Given the description of an element on the screen output the (x, y) to click on. 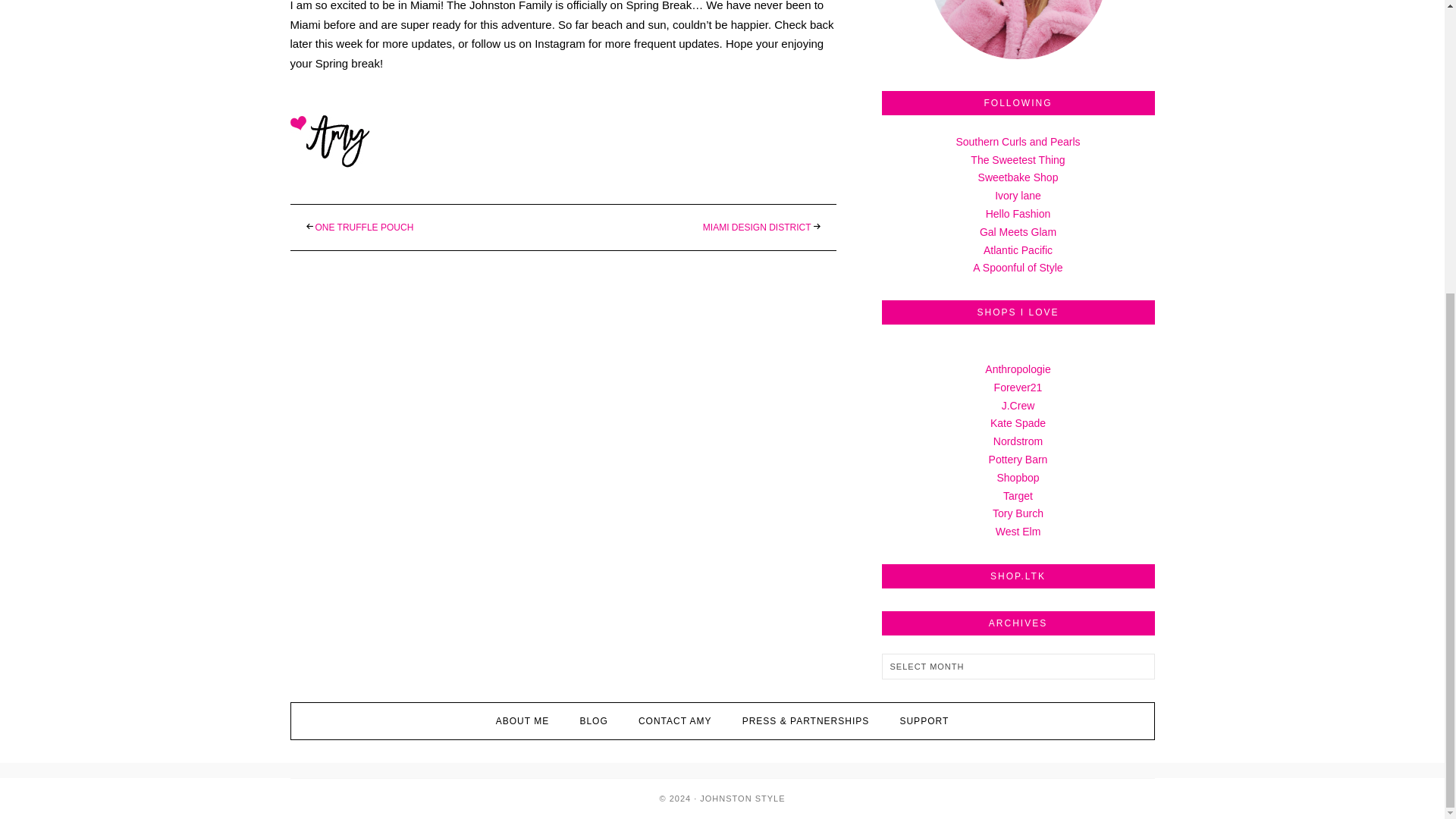
MIAMI DESIGN DISTRICT (756, 226)
Ivory lane (1017, 195)
The Sweetest Thing (1017, 159)
Anthropologie (1017, 369)
FOLLOWING (1017, 102)
ONE TRUFFLE POUCH (364, 226)
Gal Meets Glam (1018, 232)
Sweetbake Shop (1018, 177)
J.Crew (1018, 405)
Forever21 (1018, 387)
